Given the description of an element on the screen output the (x, y) to click on. 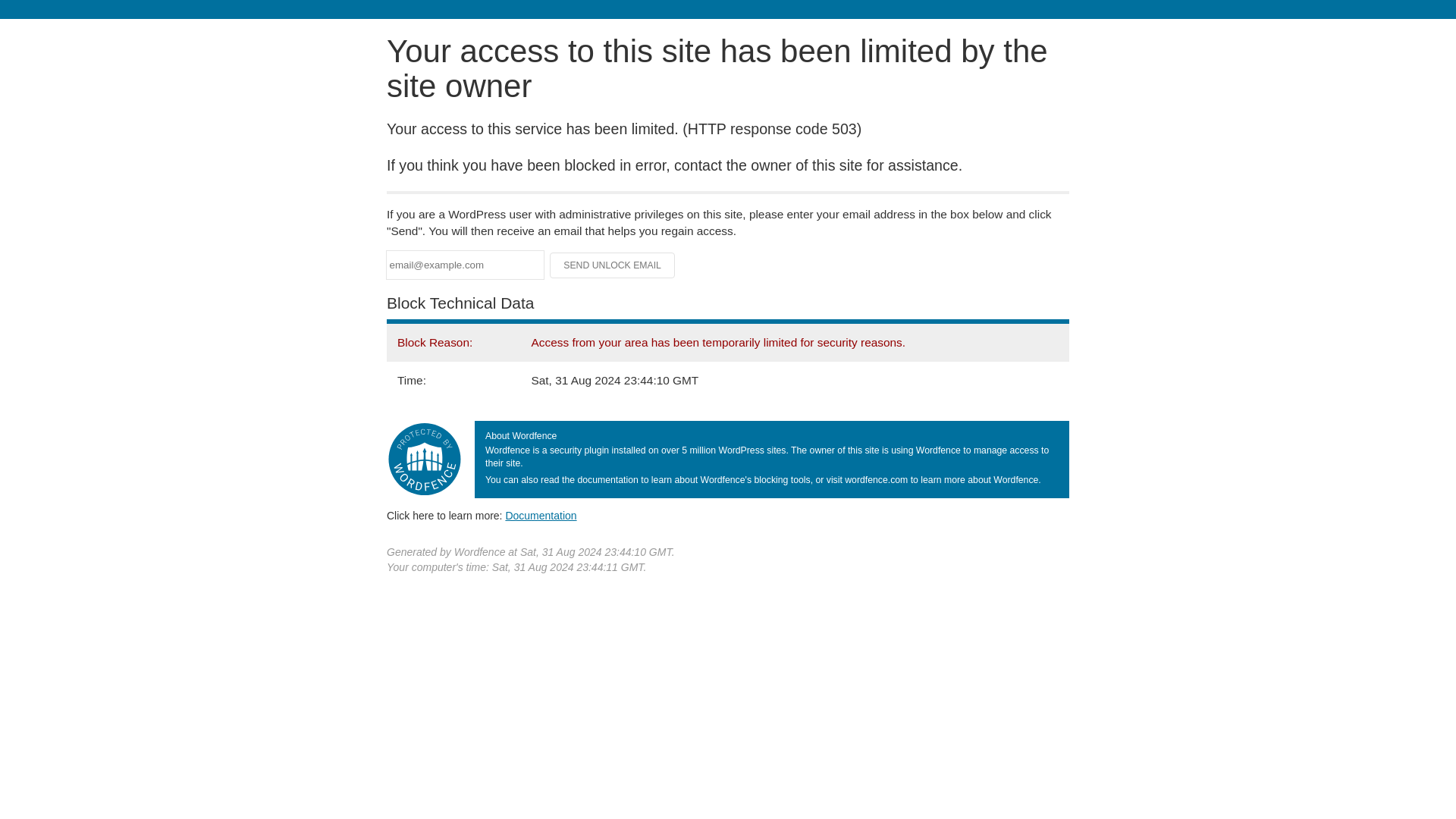
Documentation (540, 515)
Send Unlock Email (612, 265)
Send Unlock Email (612, 265)
